Given the description of an element on the screen output the (x, y) to click on. 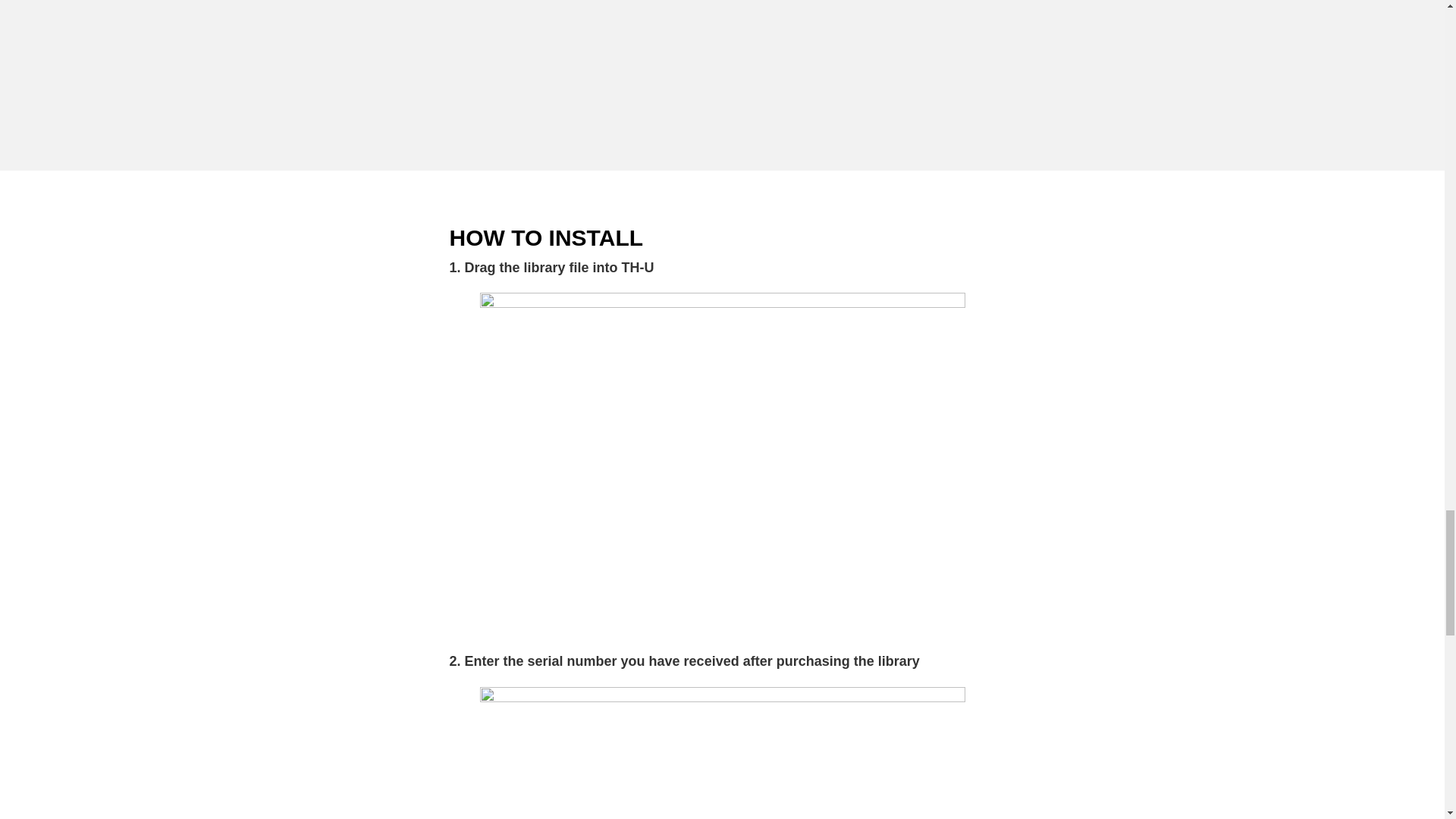
YouTube video player (721, 56)
